Given the description of an element on the screen output the (x, y) to click on. 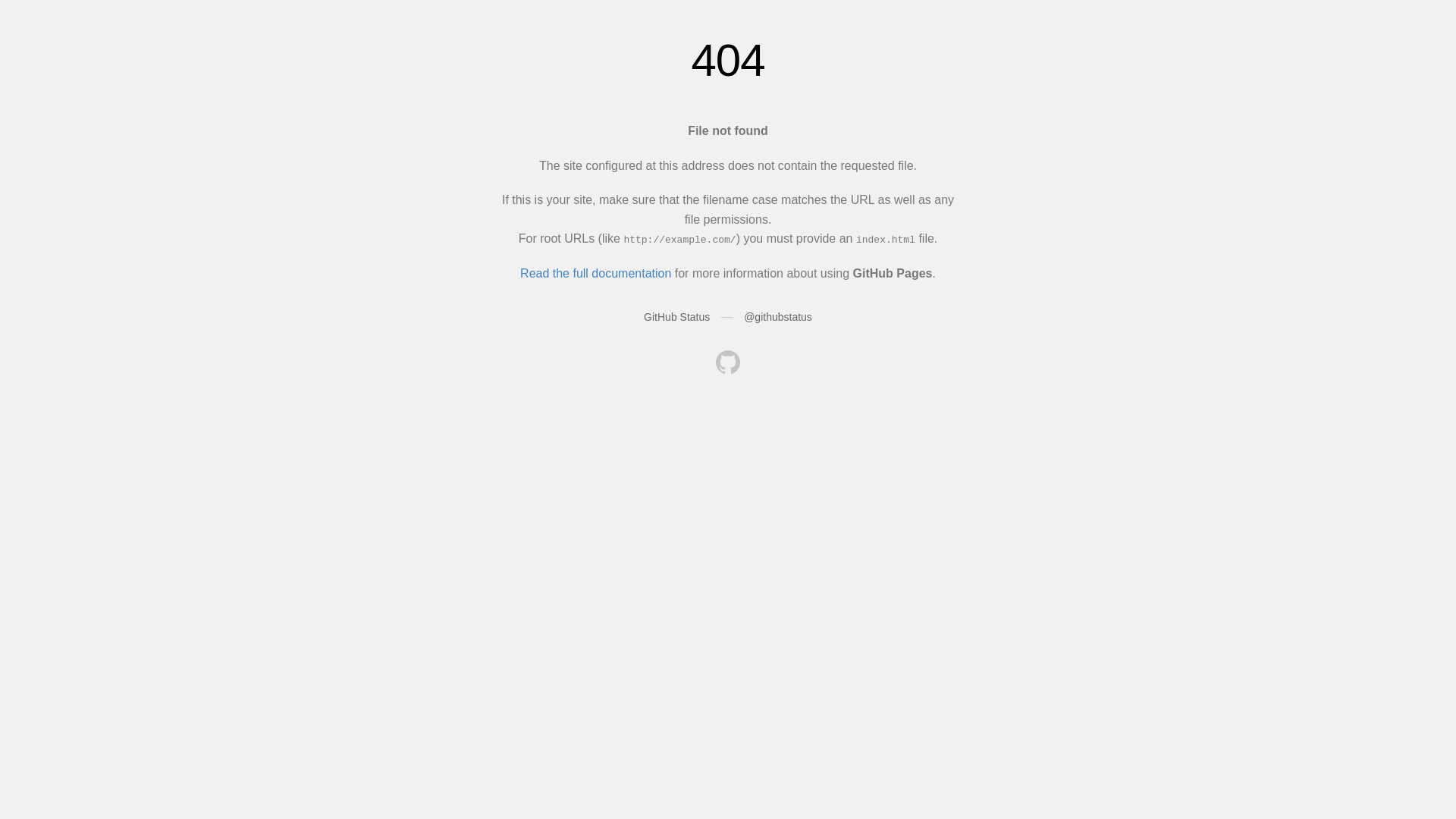
@githubstatus Element type: text (777, 316)
GitHub Status Element type: text (676, 316)
Read the full documentation Element type: text (595, 272)
